Given the description of an element on the screen output the (x, y) to click on. 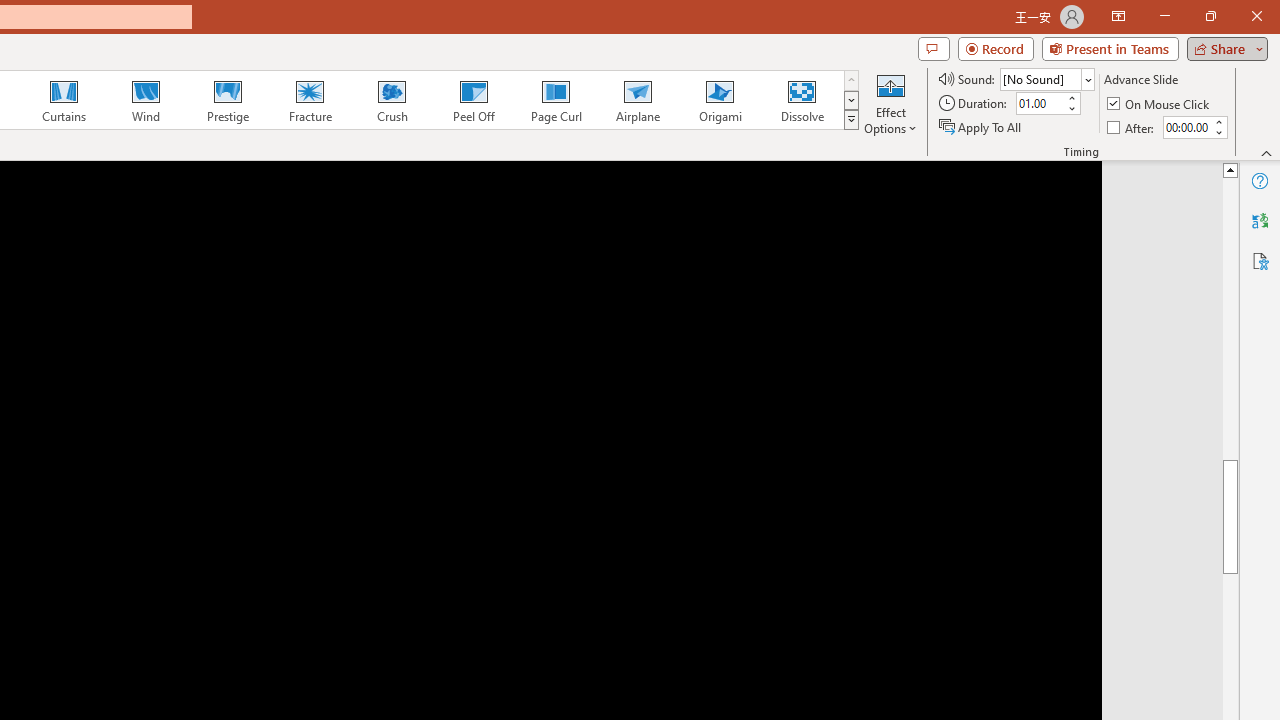
Sound (1046, 78)
Fracture (309, 100)
Apply To All (981, 126)
Wind (145, 100)
Curtains (63, 100)
On Mouse Click (1159, 103)
More (1218, 121)
Line up (1230, 169)
Page Curl (555, 100)
Effect Options (890, 102)
